Given the description of an element on the screen output the (x, y) to click on. 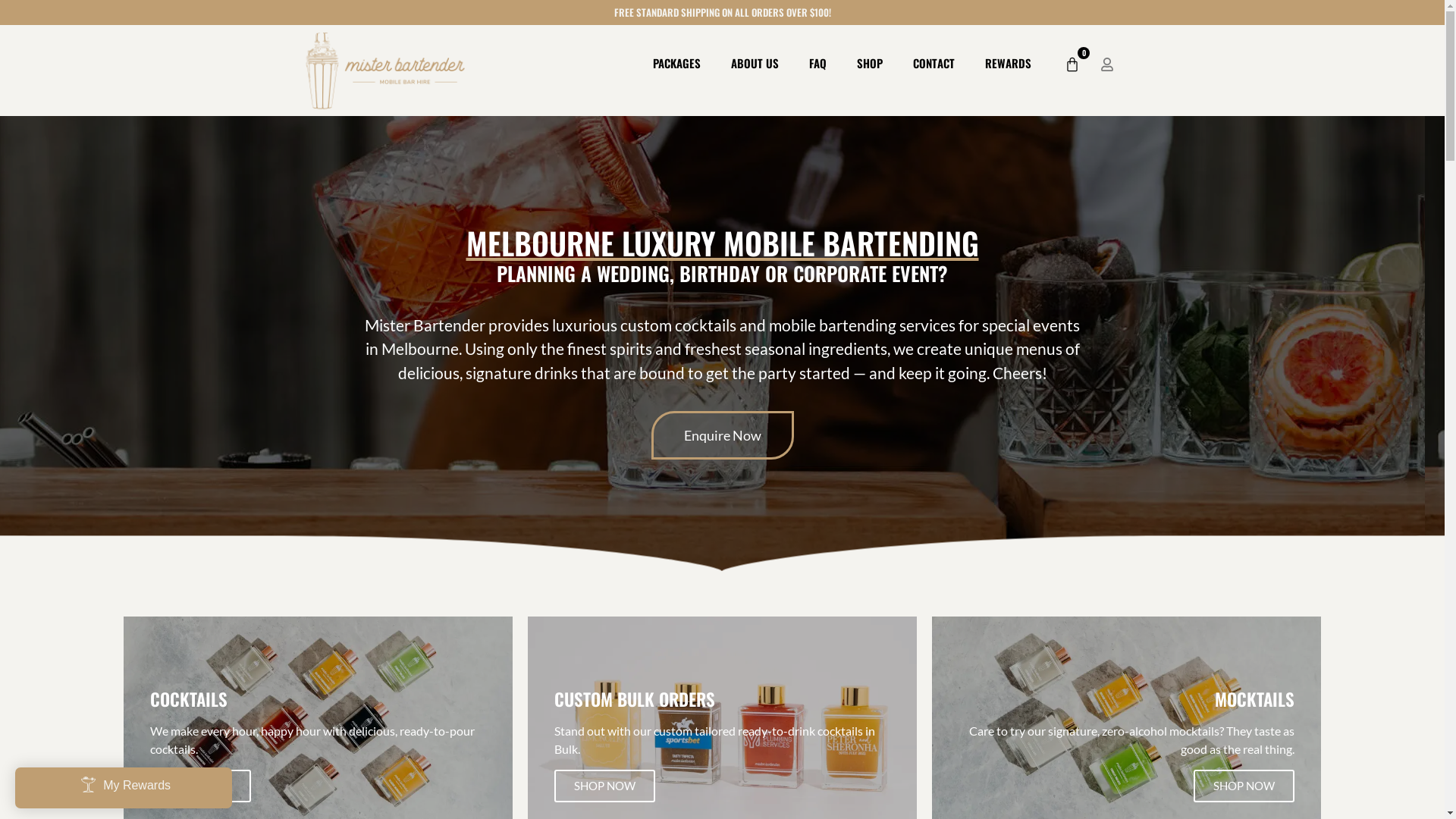
REWARDS Element type: text (1007, 62)
0 Element type: text (1072, 64)
SHOP Element type: text (869, 62)
CONTACT Element type: text (933, 62)
ABOUT US Element type: text (754, 62)
PACKAGES Element type: text (676, 62)
My Rewards Element type: text (123, 783)
FAQ Element type: text (817, 62)
Enquire Now Element type: text (721, 435)
My Rewards Element type: text (123, 787)
